Given the description of an element on the screen output the (x, y) to click on. 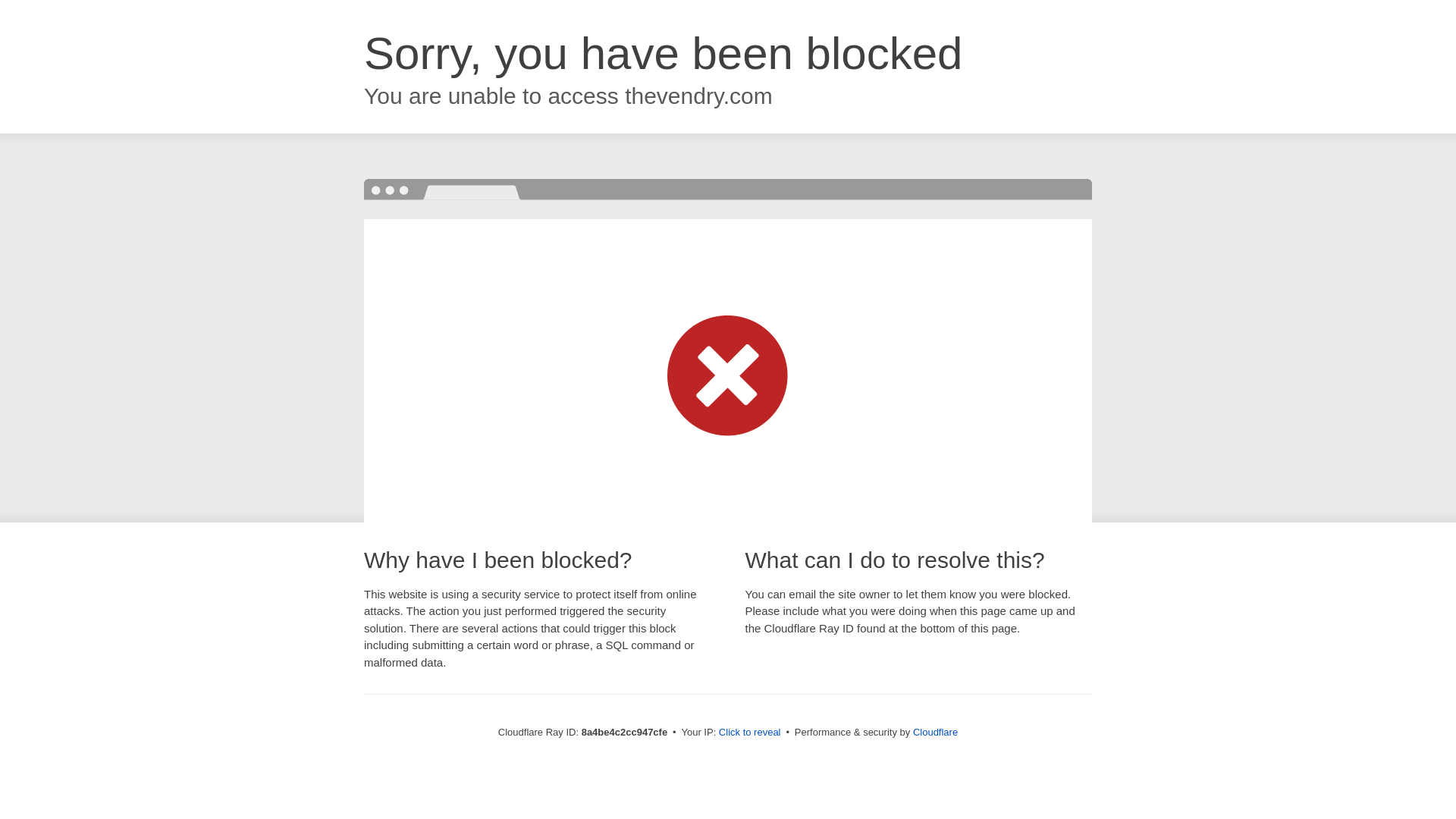
Click to reveal (749, 732)
Cloudflare (935, 731)
